Given the description of an element on the screen output the (x, y) to click on. 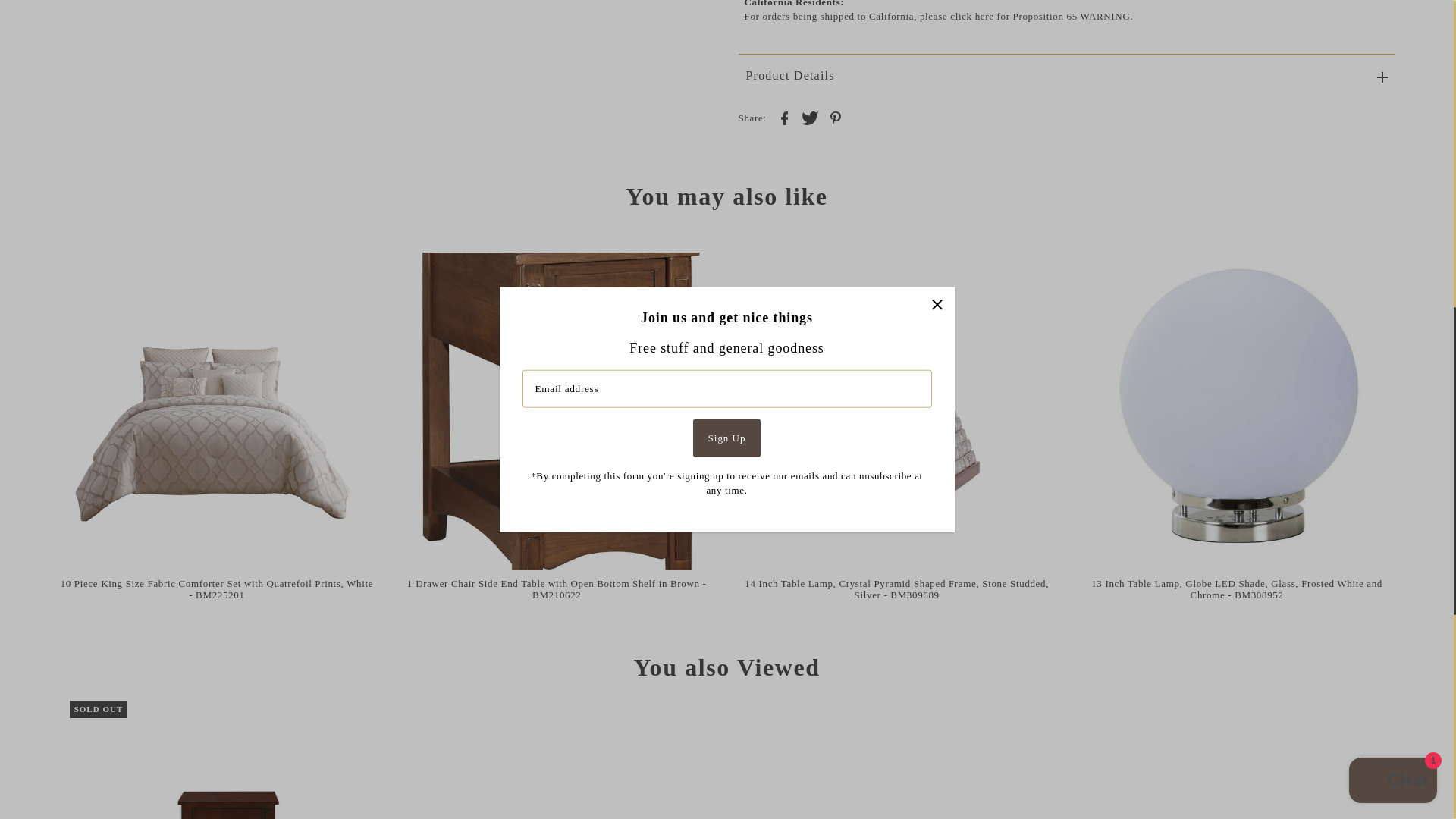
BM171566 Pine Wood 2- Drawer Night Stand,Brown (225, 760)
Proposition-65 (957, 16)
Share on Pinterest (835, 117)
Share on Twitter (809, 117)
Share on Facebook (784, 117)
